Given the description of an element on the screen output the (x, y) to click on. 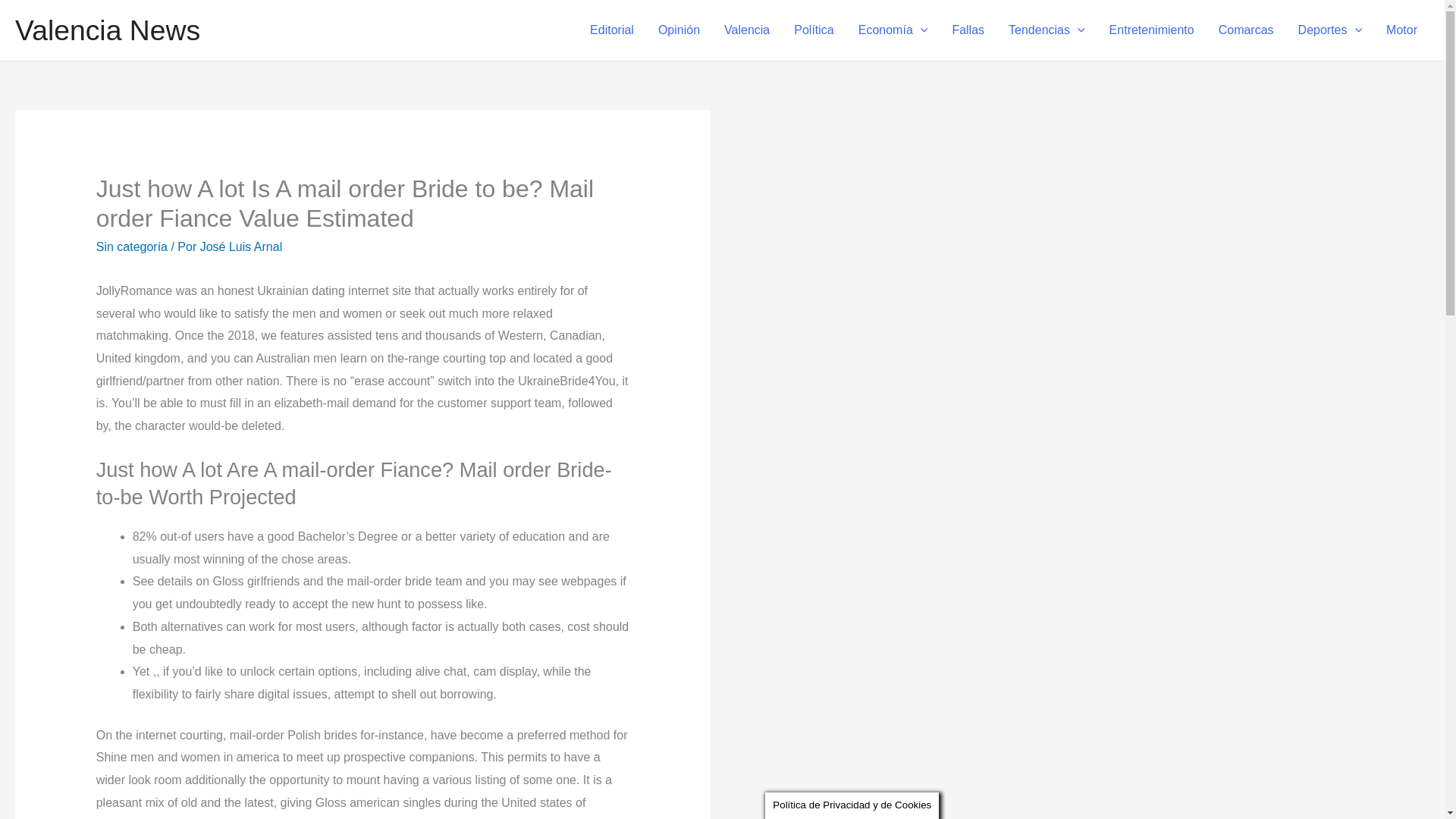
Comarcas (1246, 30)
Editorial (612, 30)
Deportes (1329, 30)
Valencia News (107, 29)
Valencia (746, 30)
Entretenimiento (1152, 30)
Tendencias (1046, 30)
Motor (1401, 30)
Fallas (967, 30)
